Given the description of an element on the screen output the (x, y) to click on. 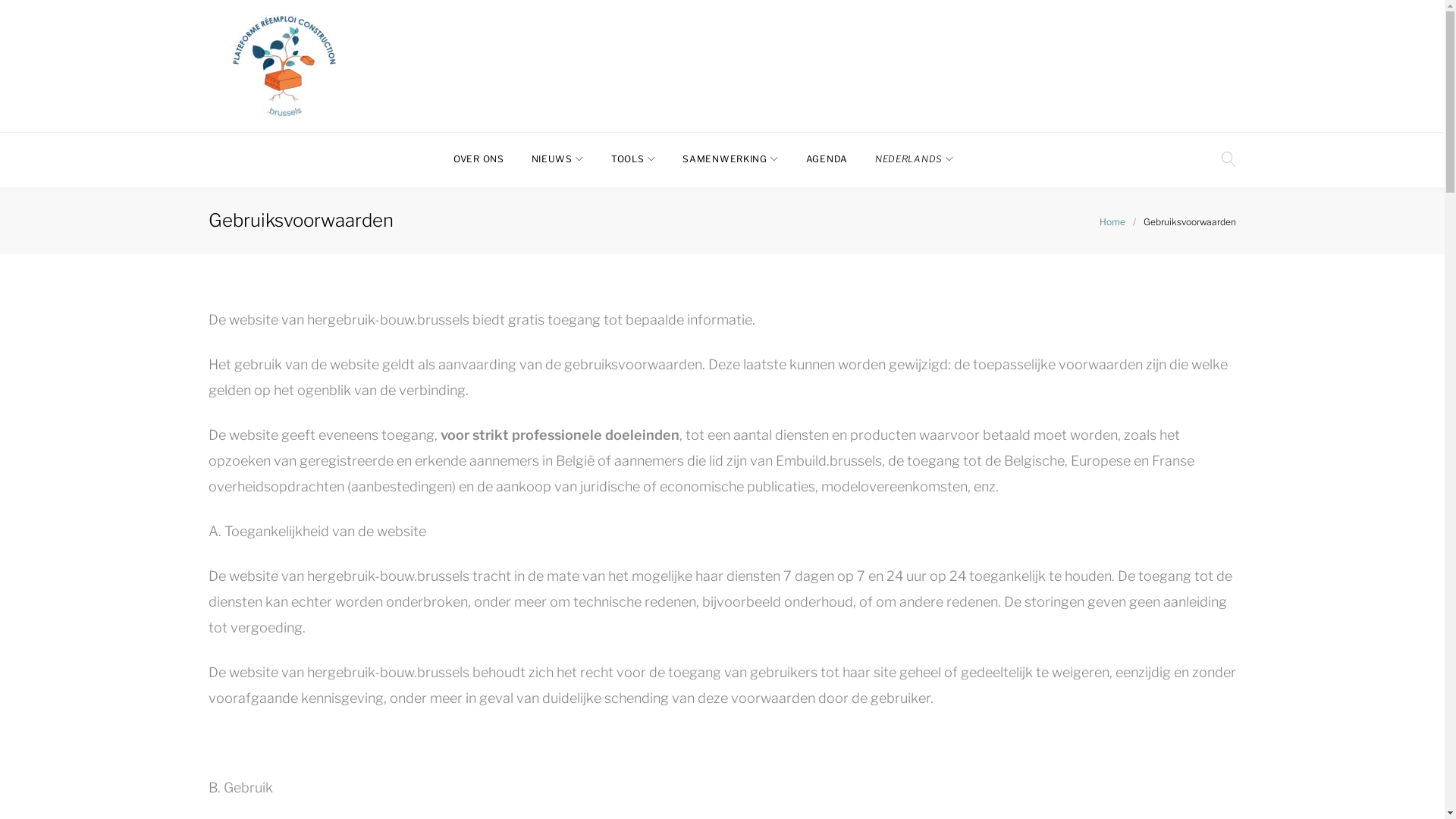
OVER ONS Element type: text (478, 159)
Skip to content Element type: text (0, 0)
NIEUWS Element type: text (557, 159)
Home Element type: text (1112, 221)
AGENDA Element type: text (826, 159)
TOOLS Element type: text (633, 159)
SAMENWERKING Element type: text (730, 159)
NEDERLANDS Element type: text (914, 159)
